Given the description of an element on the screen output the (x, y) to click on. 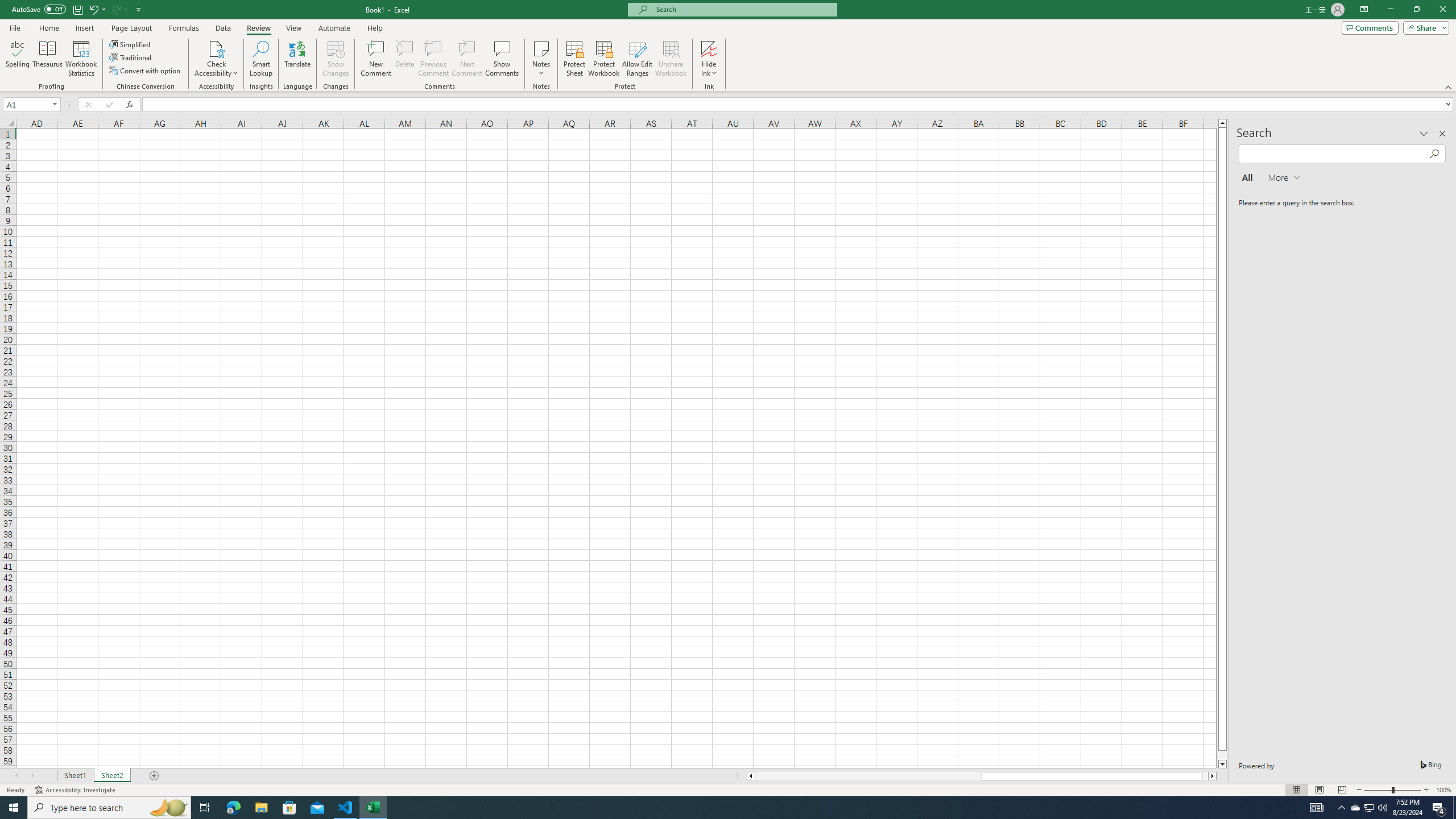
Accessibility Checker Accessibility: Investigate (76, 790)
New Comment (376, 58)
